Given the description of an element on the screen output the (x, y) to click on. 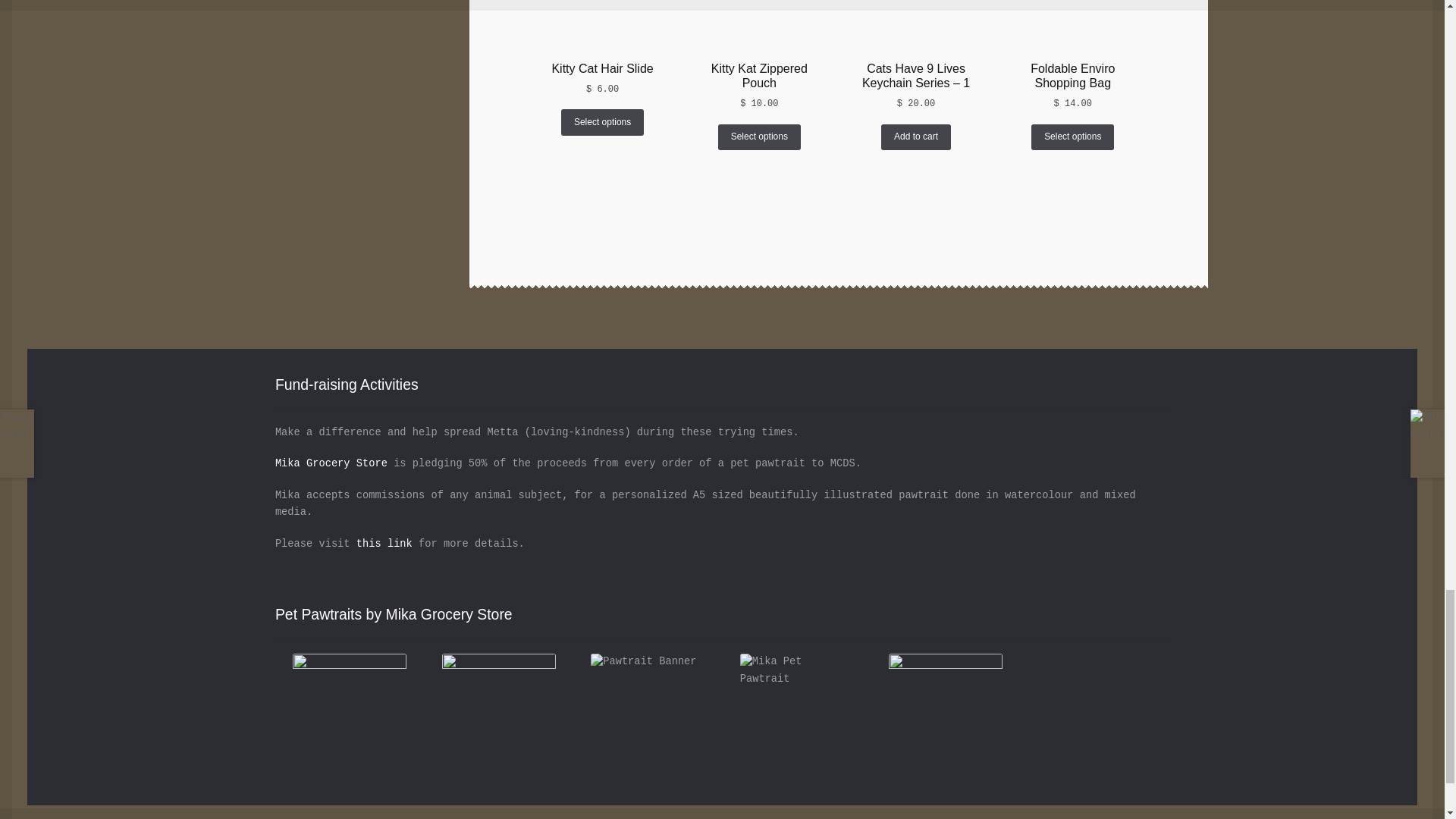
Select options (601, 121)
Select options (758, 136)
